Given the description of an element on the screen output the (x, y) to click on. 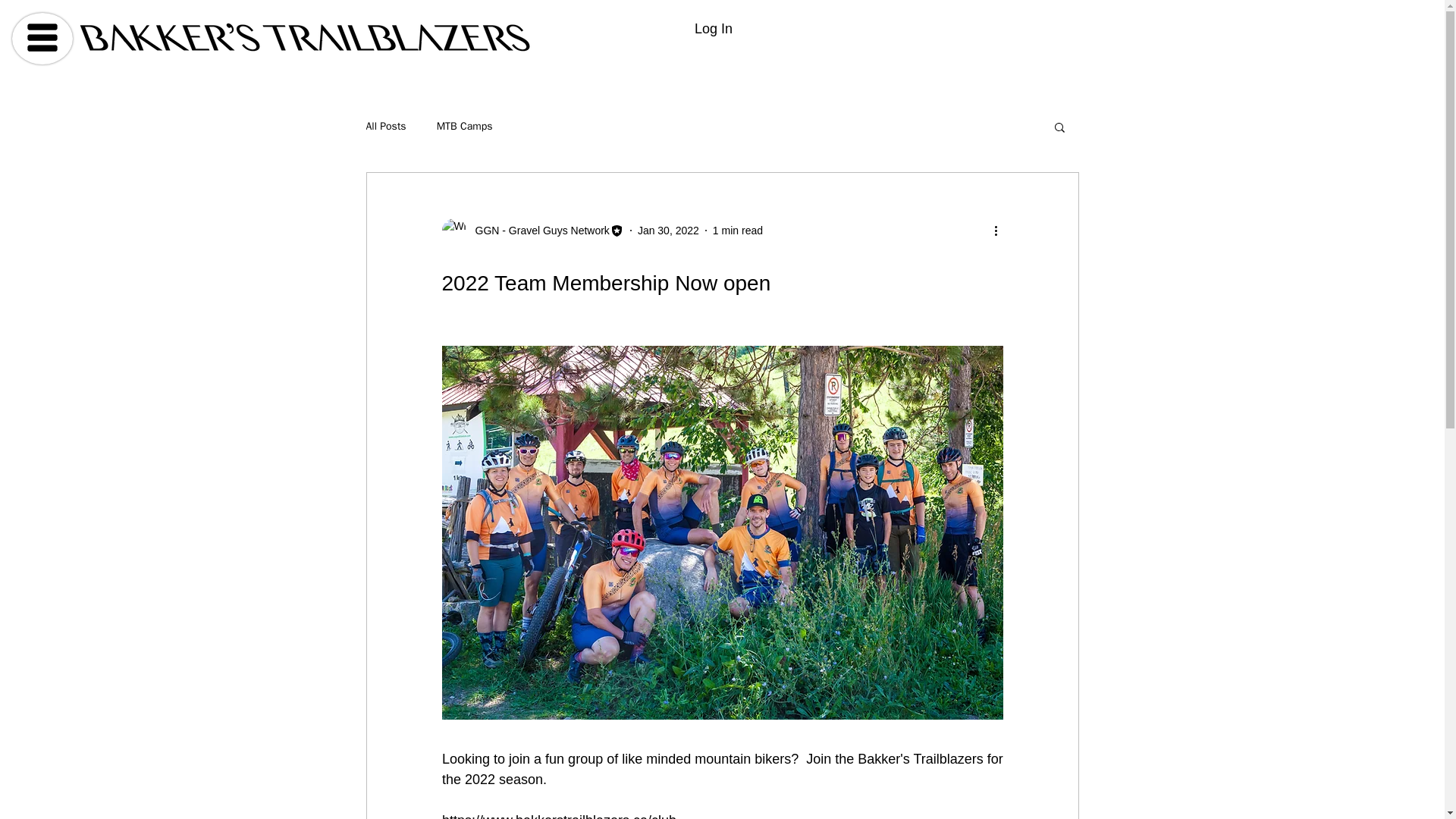
1 min read (737, 230)
Log In (713, 29)
MTB Camps (464, 126)
GGN - Gravel Guys Network (532, 230)
Jan 30, 2022 (667, 230)
All Posts (385, 126)
GGN - Gravel Guys Network (536, 230)
